Given the description of an element on the screen output the (x, y) to click on. 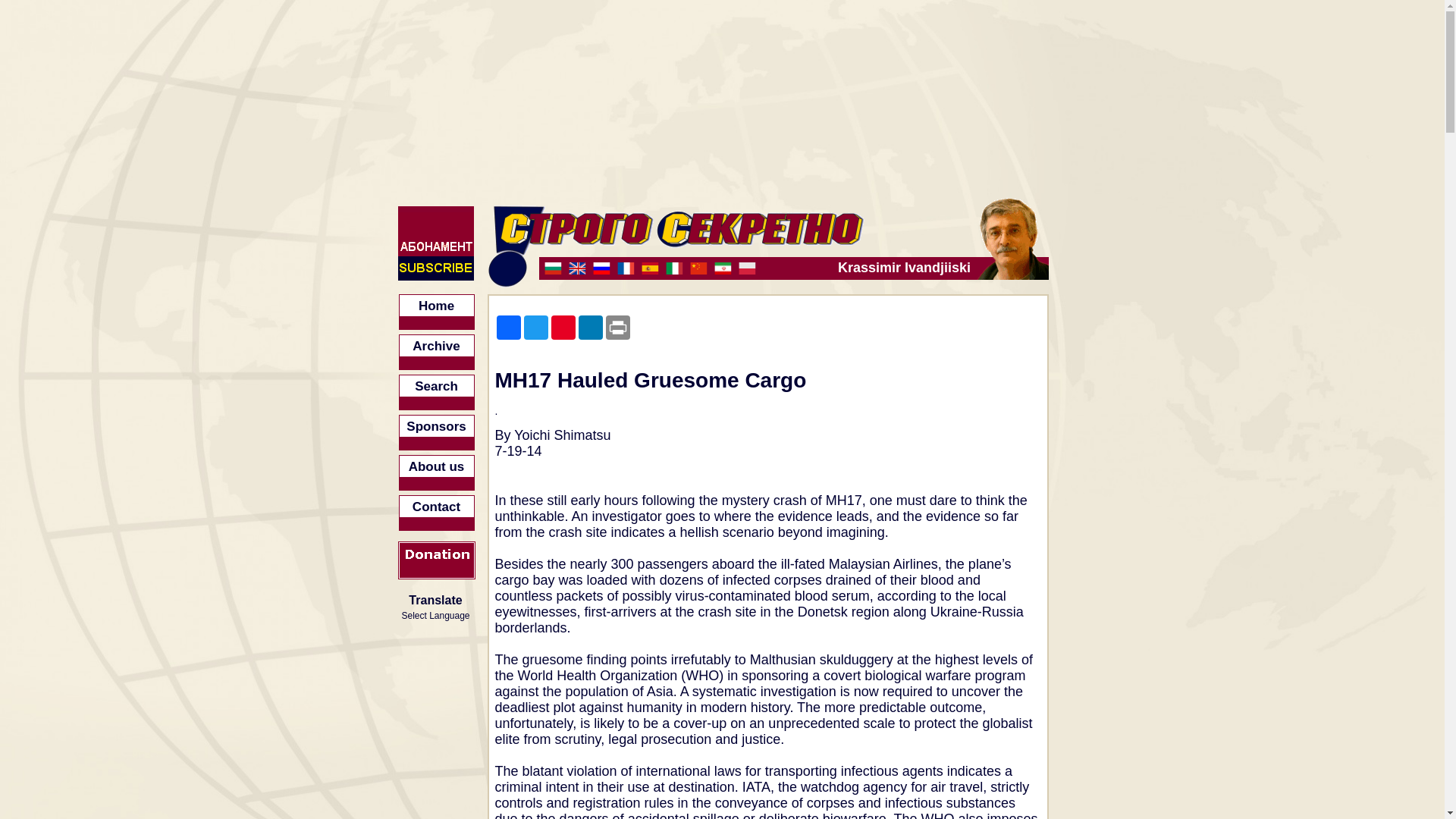
Sponsors (436, 432)
Twitter (534, 327)
Search (436, 392)
About us (436, 472)
Krassimir Ivandjiiski (756, 268)
LinkedIn (590, 327)
Advertisement (1174, 745)
Home (436, 312)
Pinterest (562, 327)
Facebook (508, 327)
Archive (436, 352)
Contact (436, 512)
